Given the description of an element on the screen output the (x, y) to click on. 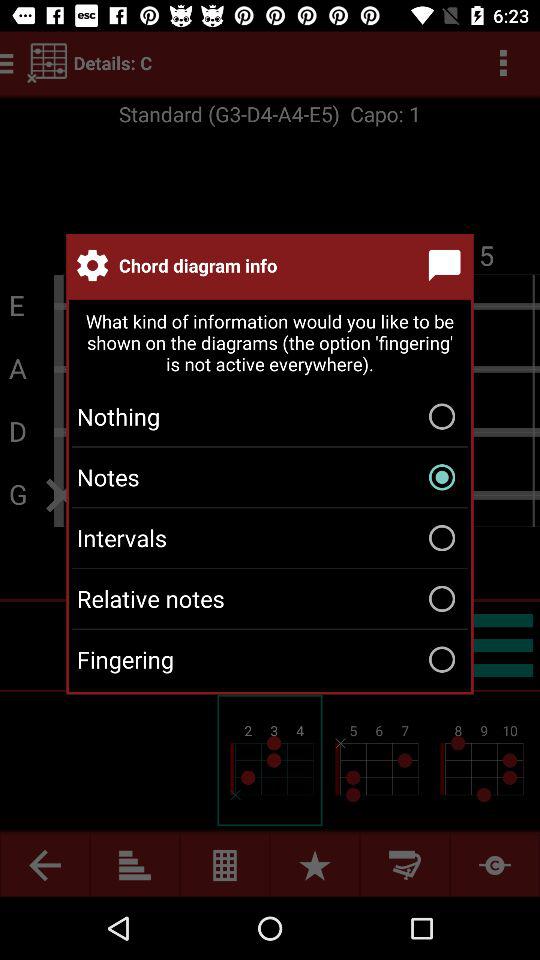
choose the icon at the top right corner (448, 265)
